Given the description of an element on the screen output the (x, y) to click on. 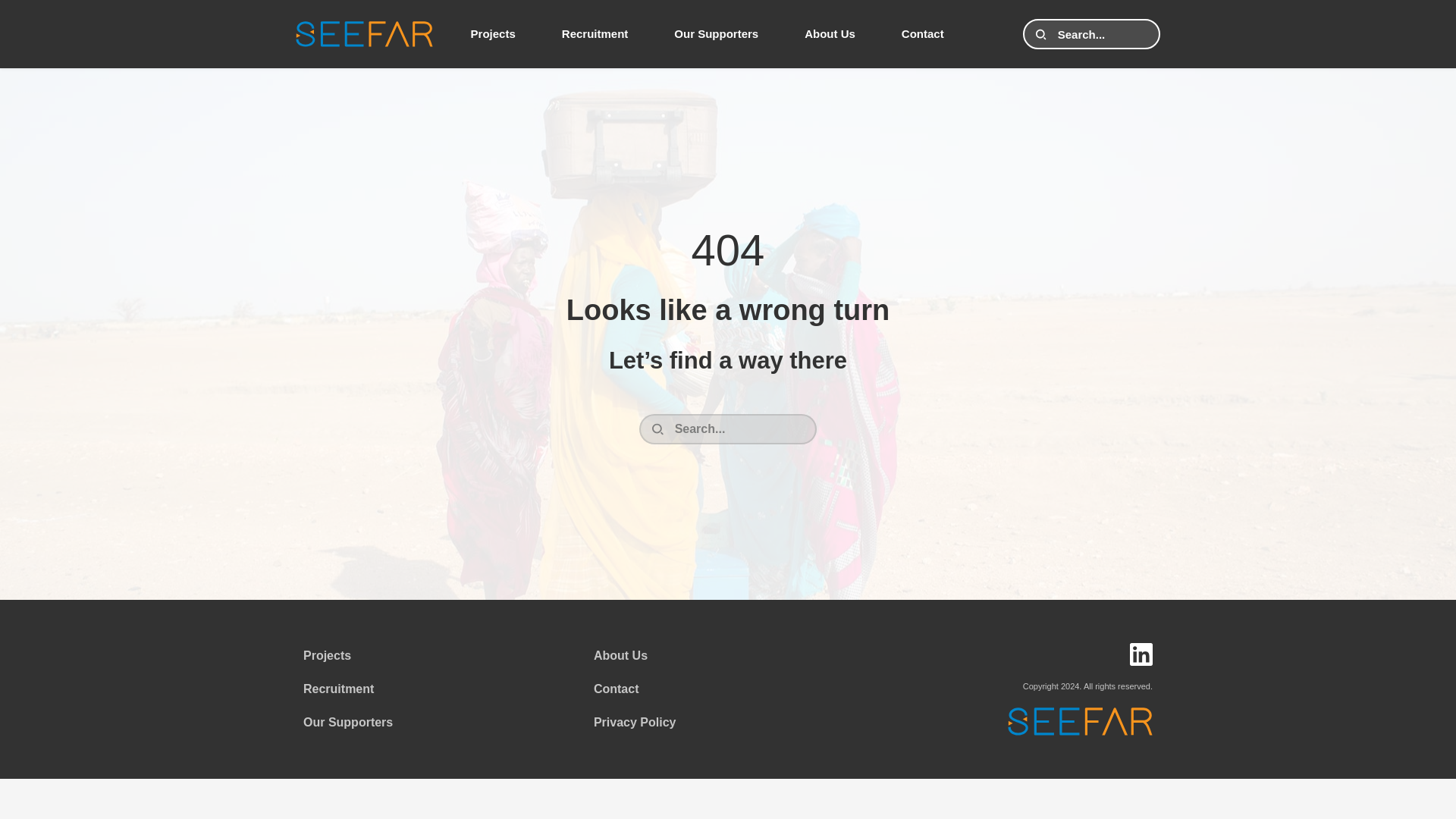
Recruitment (338, 689)
Our Supporters (347, 722)
Our Supporters (715, 34)
About Us (620, 656)
About Us (829, 34)
Projects (493, 34)
Projects (326, 656)
Privacy Policy (635, 722)
Contact (922, 34)
Recruitment (594, 34)
Contact (616, 689)
